Given the description of an element on the screen output the (x, y) to click on. 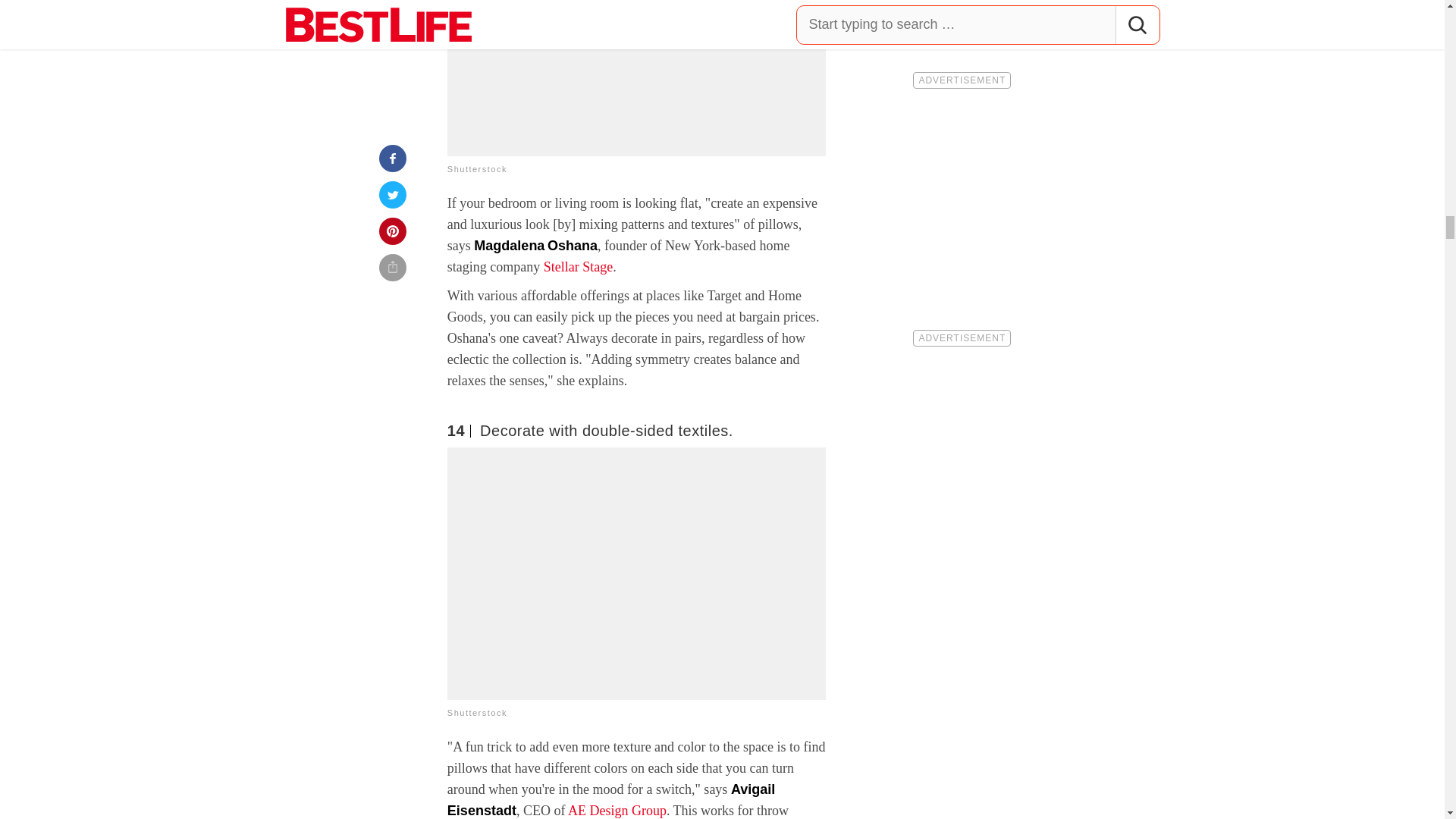
Stellar Stage (577, 266)
